Given the description of an element on the screen output the (x, y) to click on. 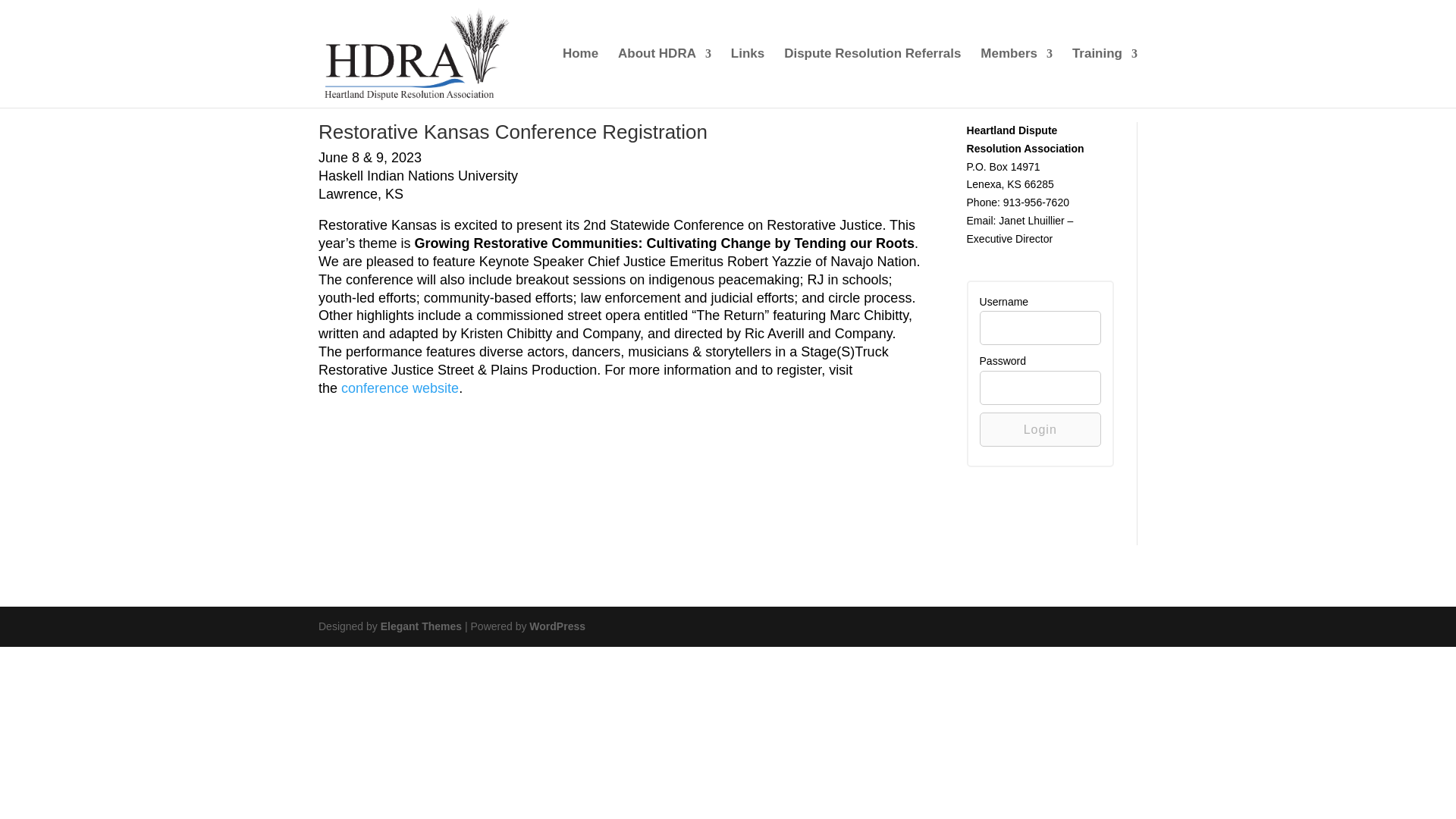
Training (1104, 77)
Please enter username (1039, 327)
Login (1039, 429)
Premium WordPress Themes (420, 625)
conference website (399, 387)
Dispute Resolution Referrals (872, 77)
Please enter password (1039, 387)
WordPress (557, 625)
Login (1039, 429)
About HDRA (664, 77)
Members (1015, 77)
Elegant Themes (420, 625)
